Given the description of an element on the screen output the (x, y) to click on. 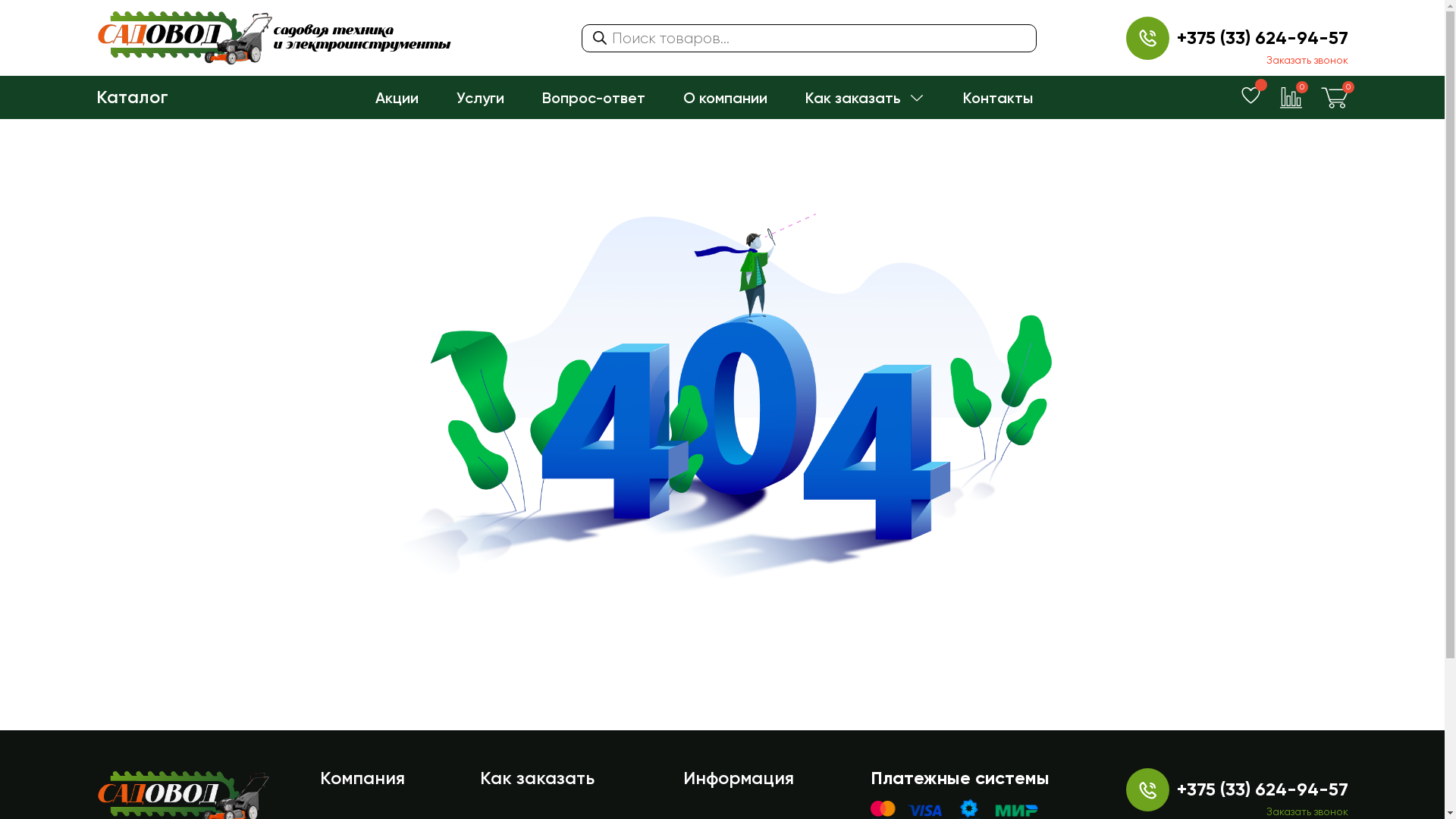
+375 (33) 624-94-57 Element type: text (1262, 789)
0 Element type: text (1334, 96)
+375 (33) 624-94-57 Element type: text (1262, 37)
